Given the description of an element on the screen output the (x, y) to click on. 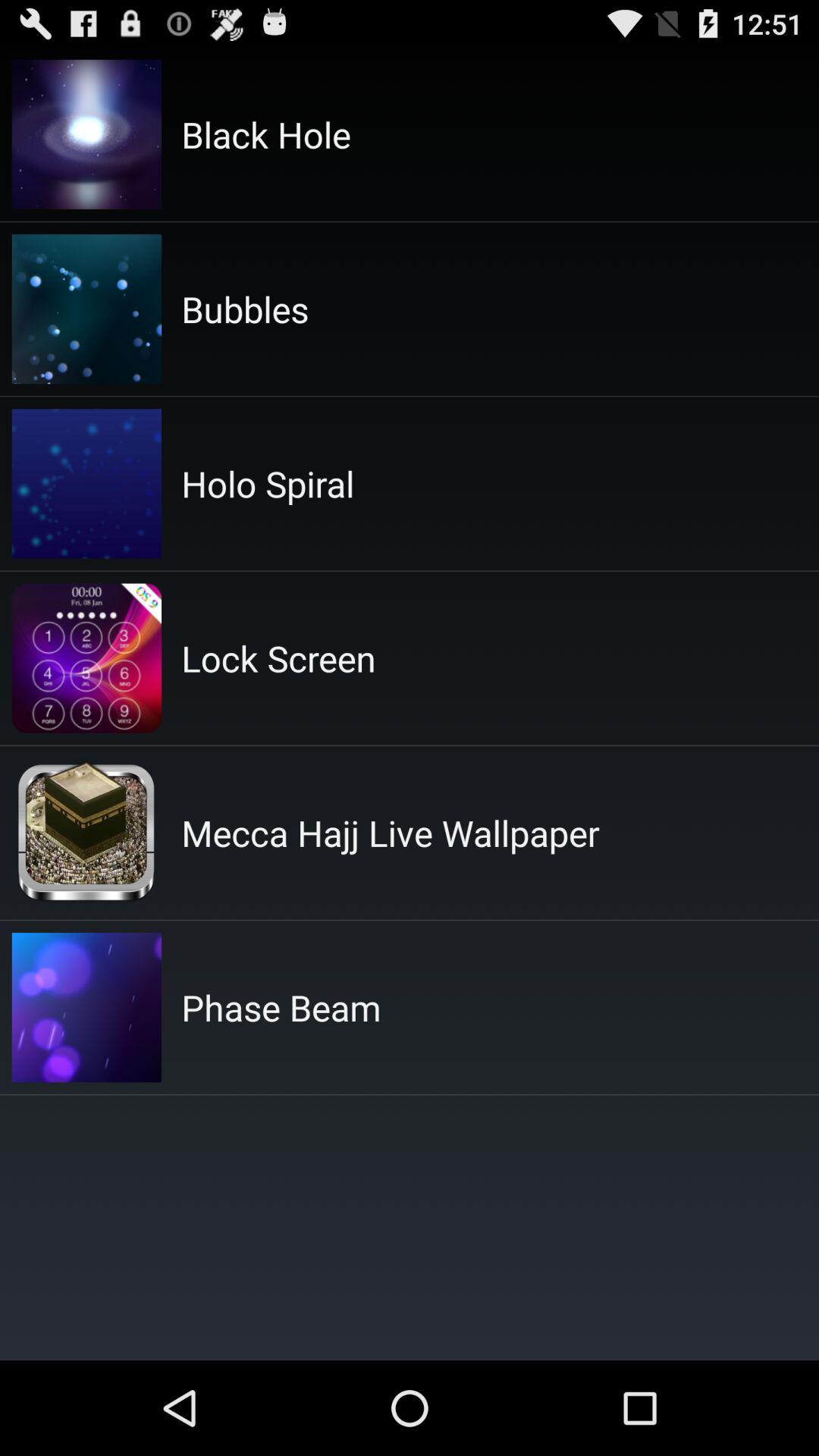
launch the app above lock screen icon (267, 483)
